Given the description of an element on the screen output the (x, y) to click on. 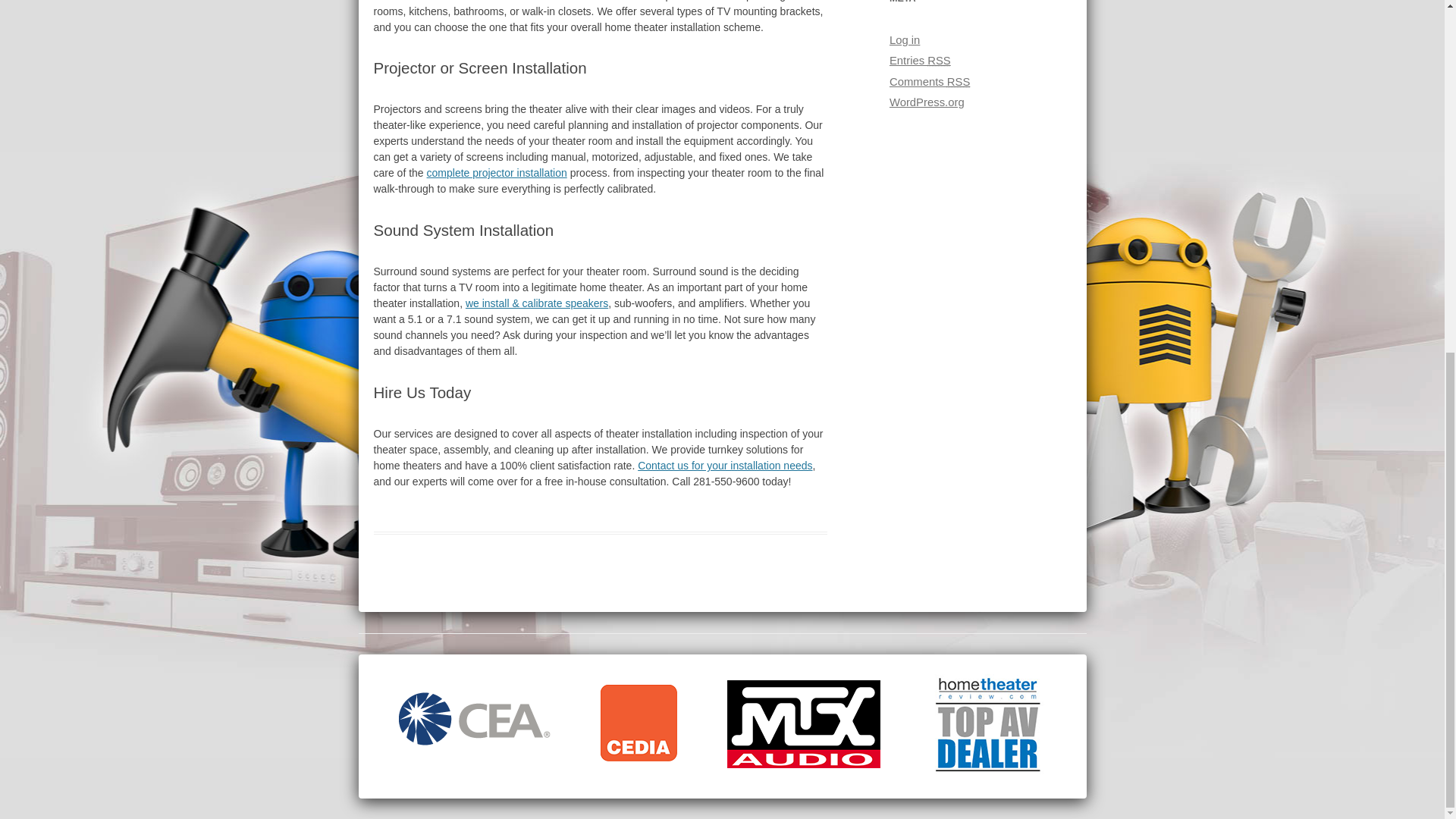
Entries RSS (919, 60)
Contact us for your installation needs (724, 465)
Log in (904, 39)
WordPress.org (926, 102)
Really Simple Syndication (959, 81)
Projector Installations (496, 173)
Syndicate this site using RSS 2.0 (919, 60)
Really Simple Syndication (938, 60)
Comments RSS (929, 81)
The latest comments to all posts in RSS (929, 81)
Indoor Speaker Installation (536, 303)
complete projector installation (496, 173)
